Given the description of an element on the screen output the (x, y) to click on. 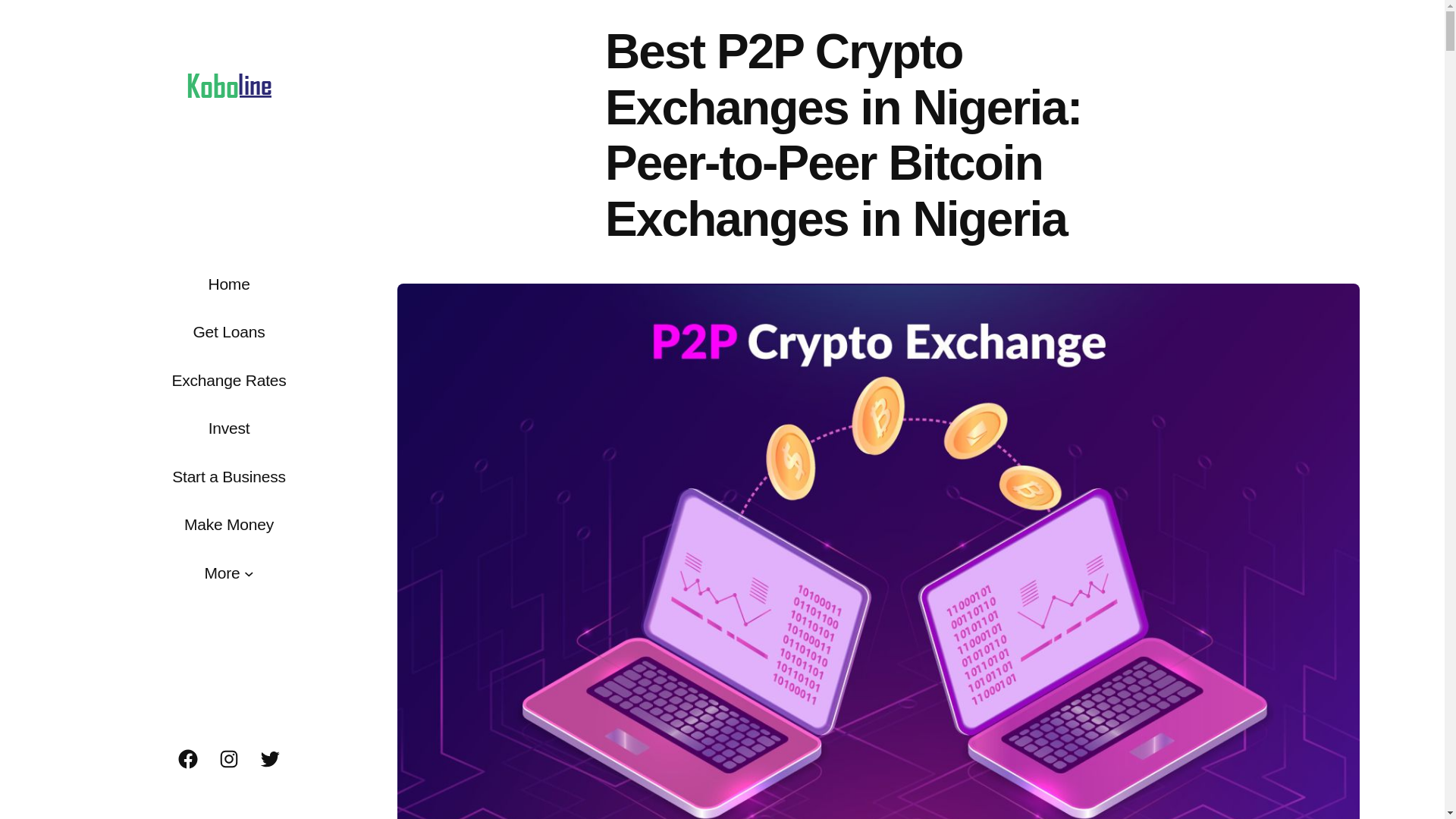
Instagram (228, 758)
Home (228, 283)
Facebook (187, 758)
Make Money (228, 524)
More (222, 573)
Start a Business (228, 476)
Get Loans (228, 331)
Exchange Rates (228, 380)
Invest (229, 428)
Twitter (270, 758)
